Given the description of an element on the screen output the (x, y) to click on. 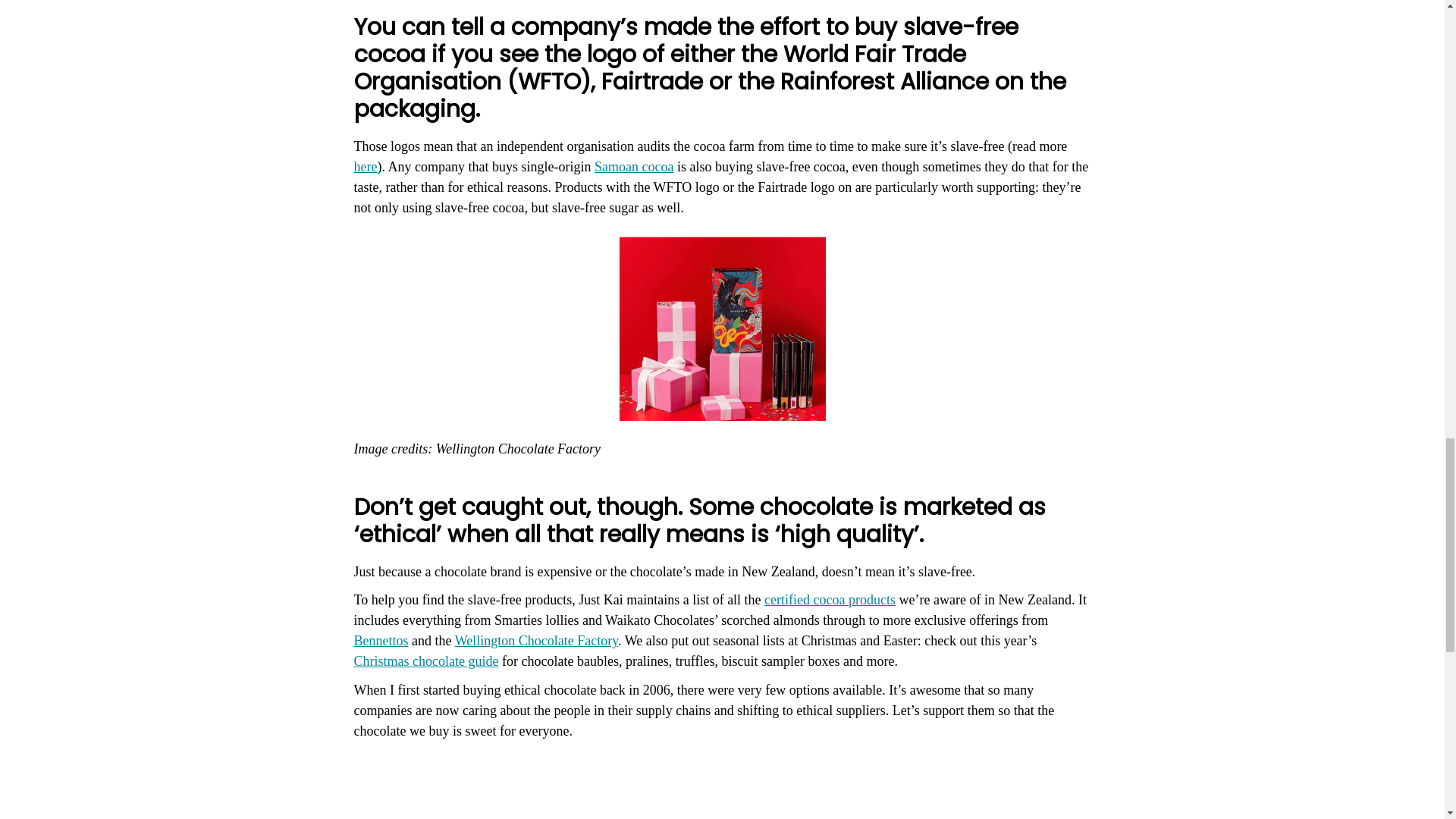
wcfgifting (721, 328)
